Given the description of an element on the screen output the (x, y) to click on. 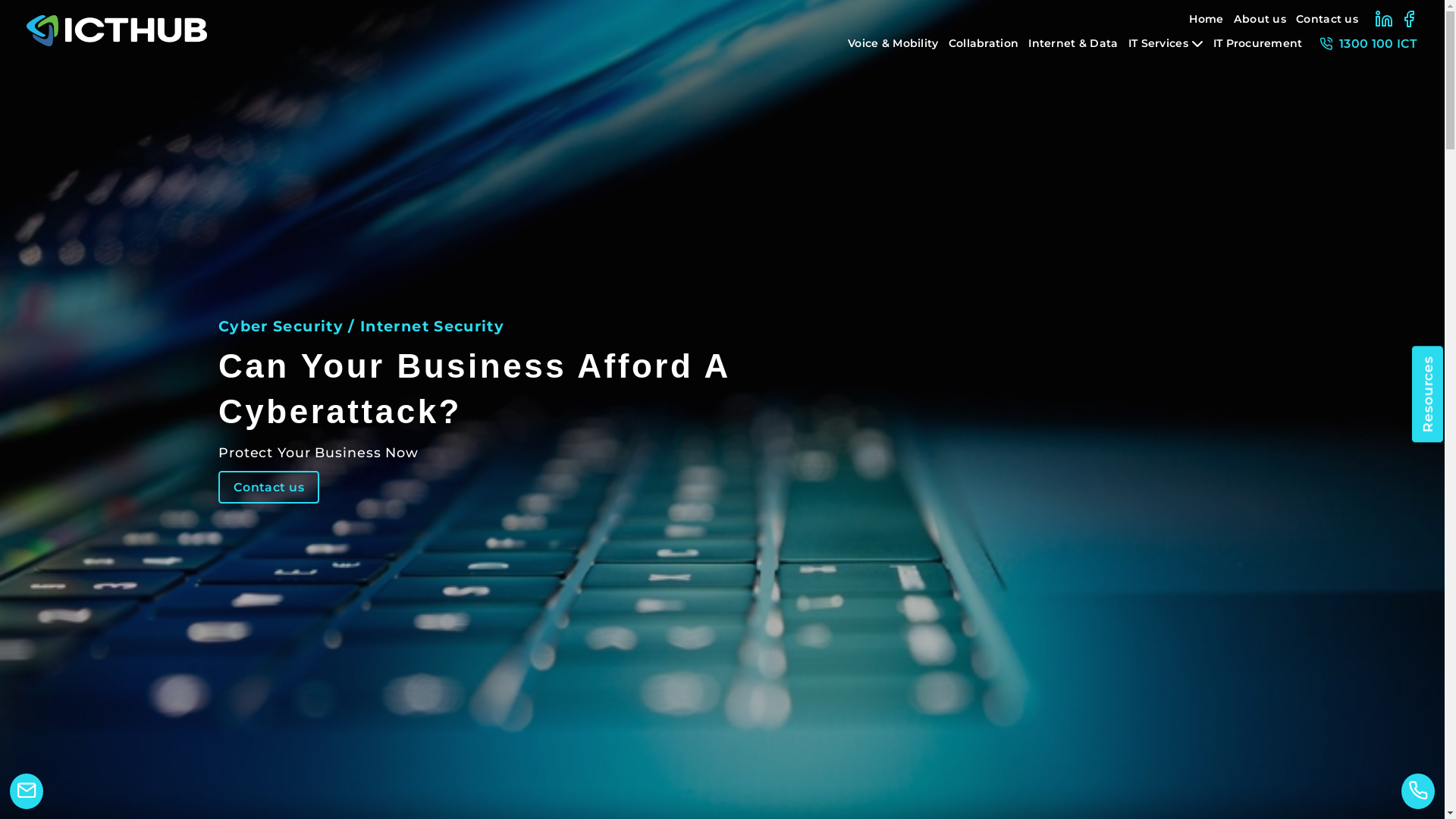
Voice & Mobility Element type: text (897, 43)
Contact us Element type: text (268, 486)
IT Procurement Element type: text (1262, 43)
Home Element type: text (1211, 19)
Collabration Element type: text (988, 43)
Internet & Data Element type: text (1077, 43)
Contact us Element type: text (1331, 19)
About us Element type: text (1264, 19)
1300 100 ICT Element type: text (1365, 43)
IT Services Element type: text (1170, 43)
